Given the description of an element on the screen output the (x, y) to click on. 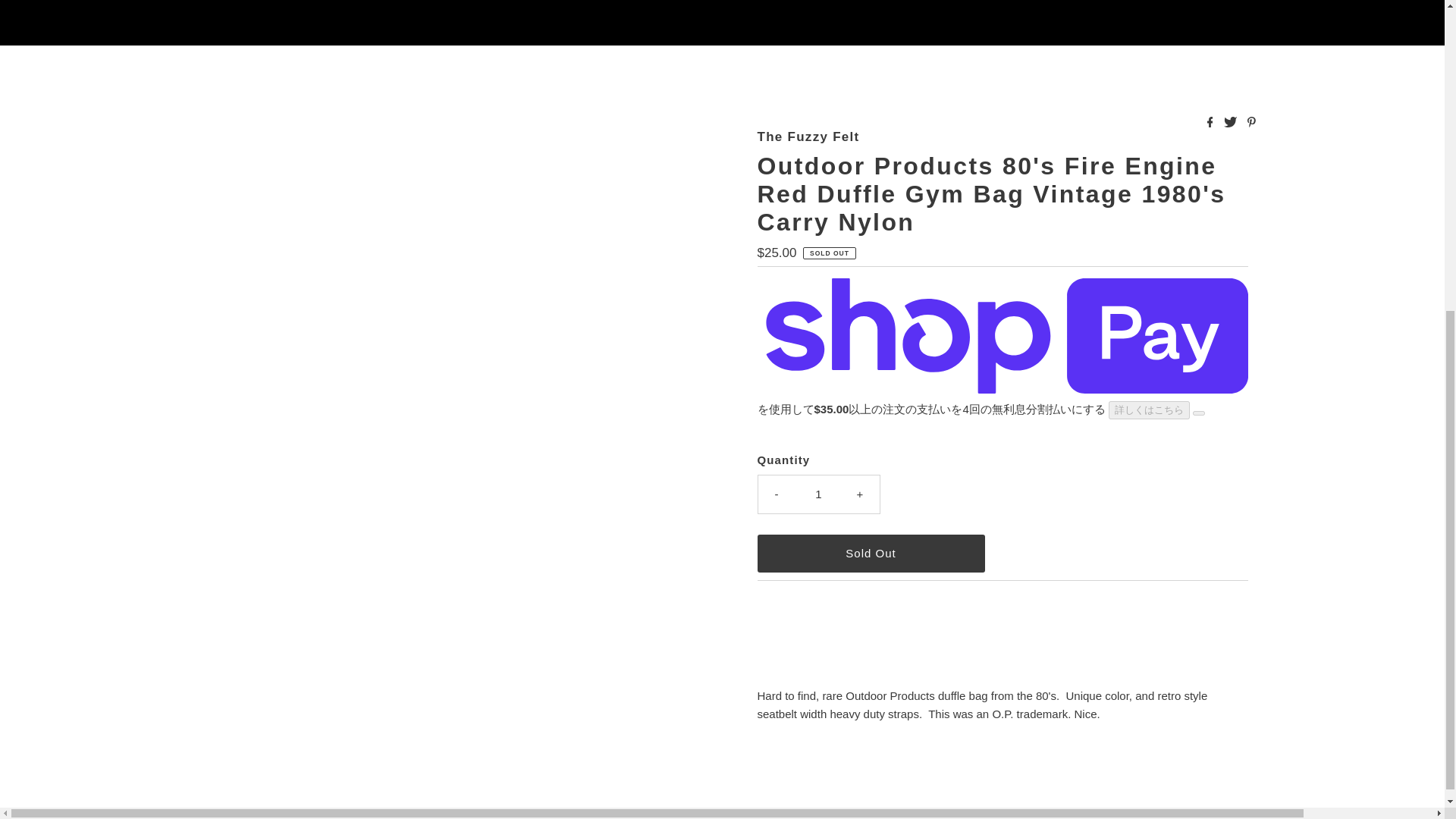
Sold Out (870, 553)
1 (818, 494)
